Given the description of an element on the screen output the (x, y) to click on. 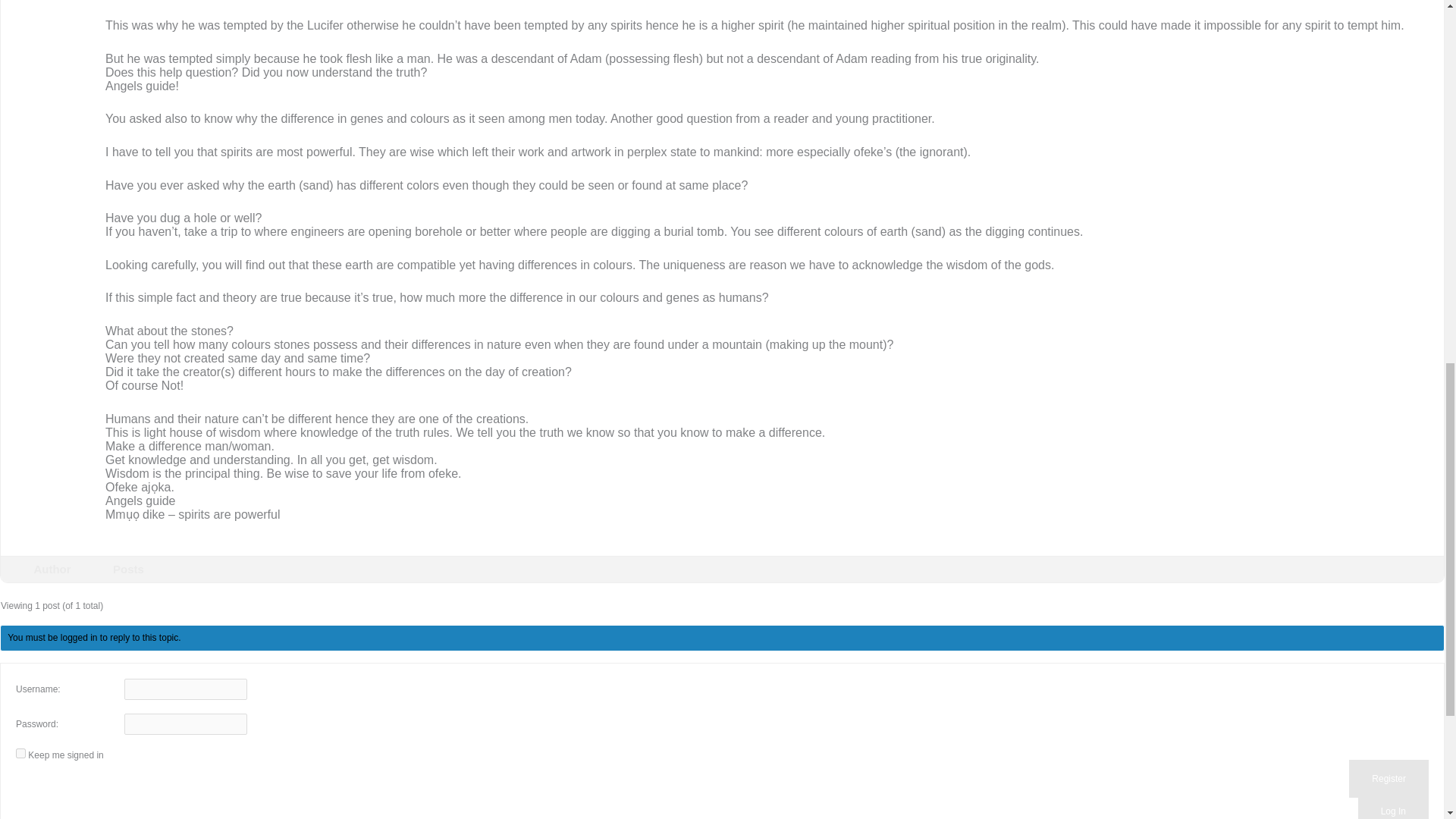
Log In (1393, 806)
Register (1388, 778)
forever (21, 753)
